Given the description of an element on the screen output the (x, y) to click on. 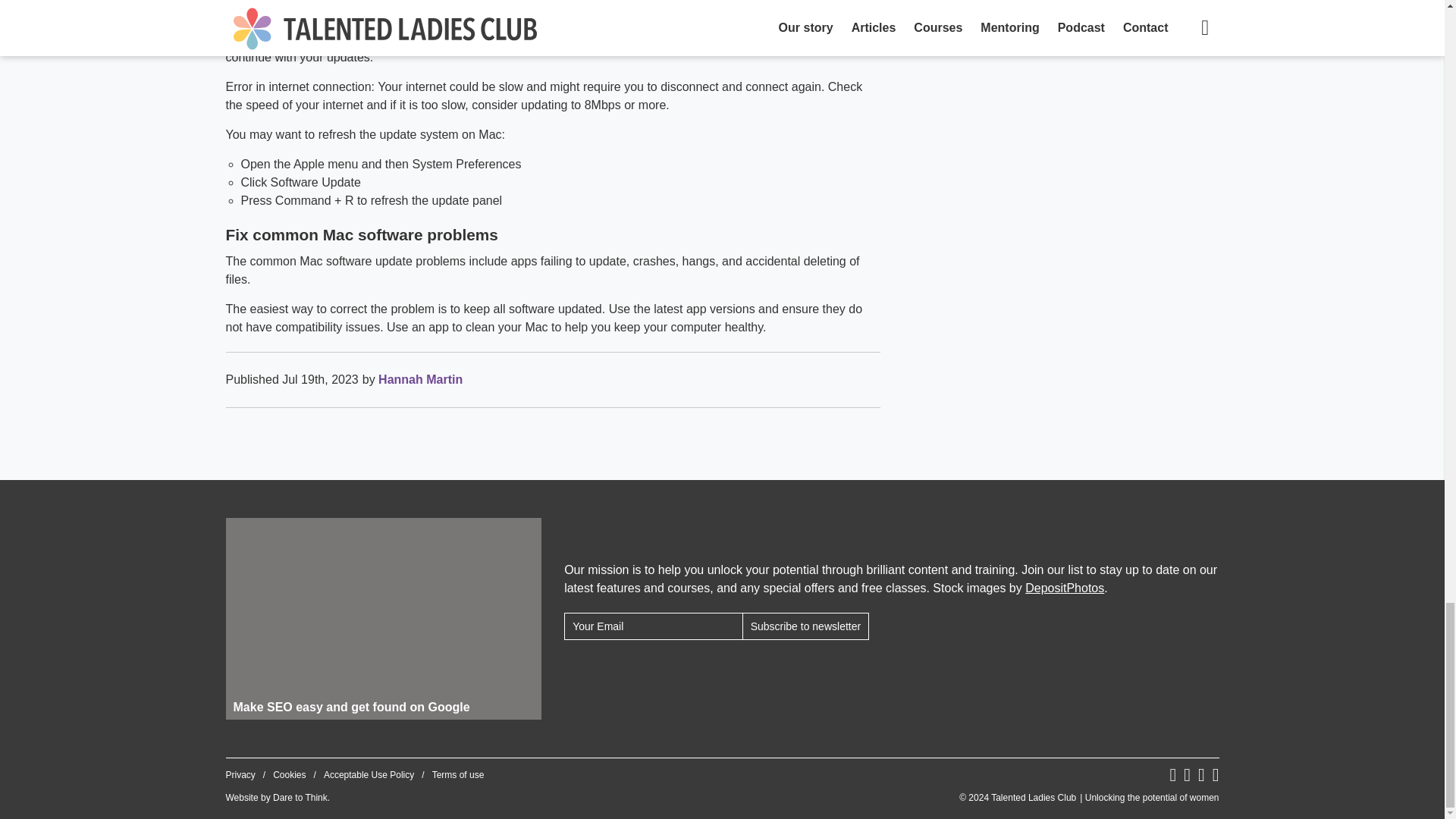
Talented Ladies Club (1088, 797)
Website design and development services from Dare to Think (300, 797)
Subscribe to newsletter (805, 625)
